Given the description of an element on the screen output the (x, y) to click on. 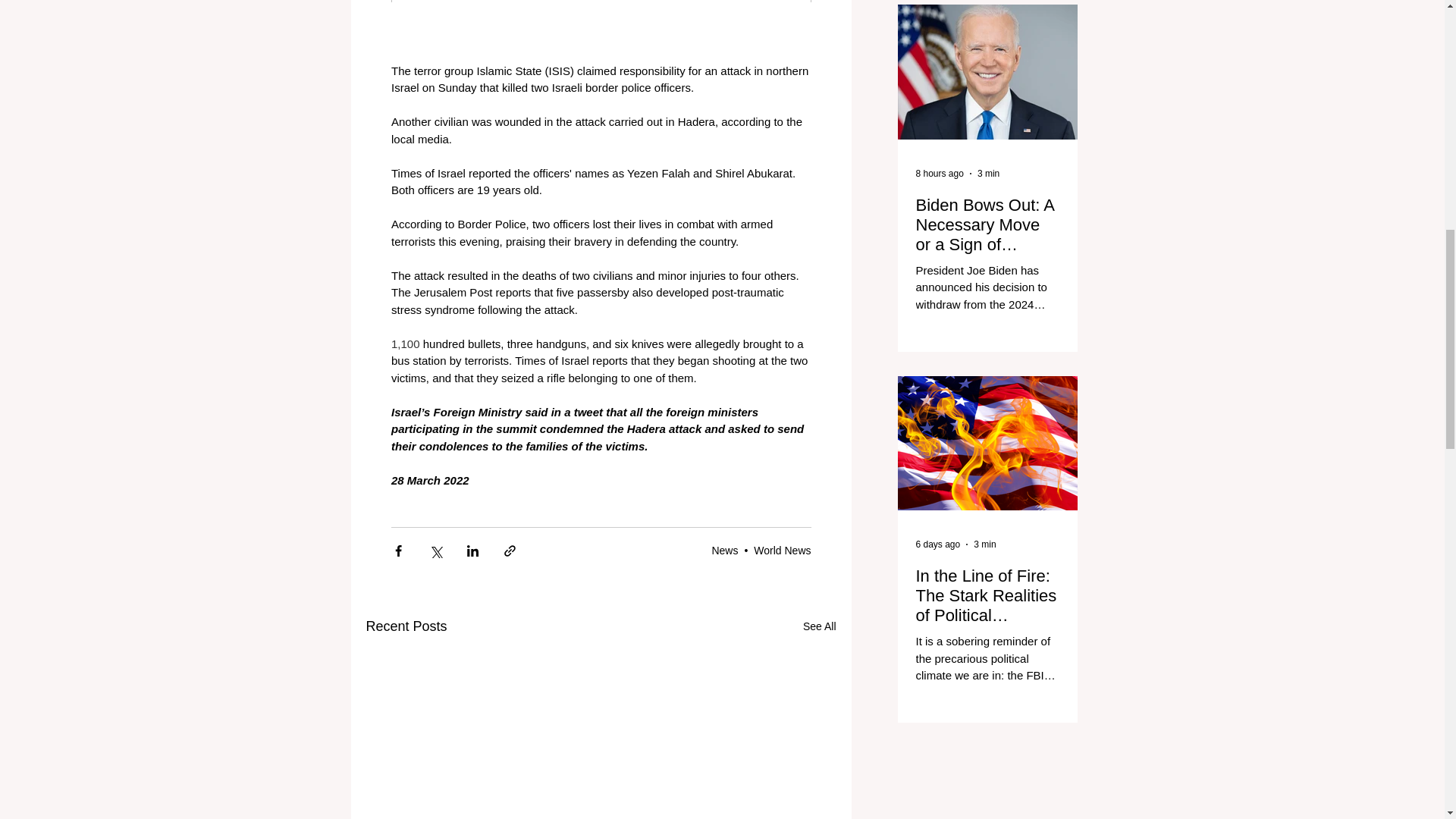
6 days ago (937, 543)
World News (782, 550)
8 hours ago (939, 173)
See All (819, 626)
3 min (984, 543)
News (724, 550)
3 min (987, 173)
